Given the description of an element on the screen output the (x, y) to click on. 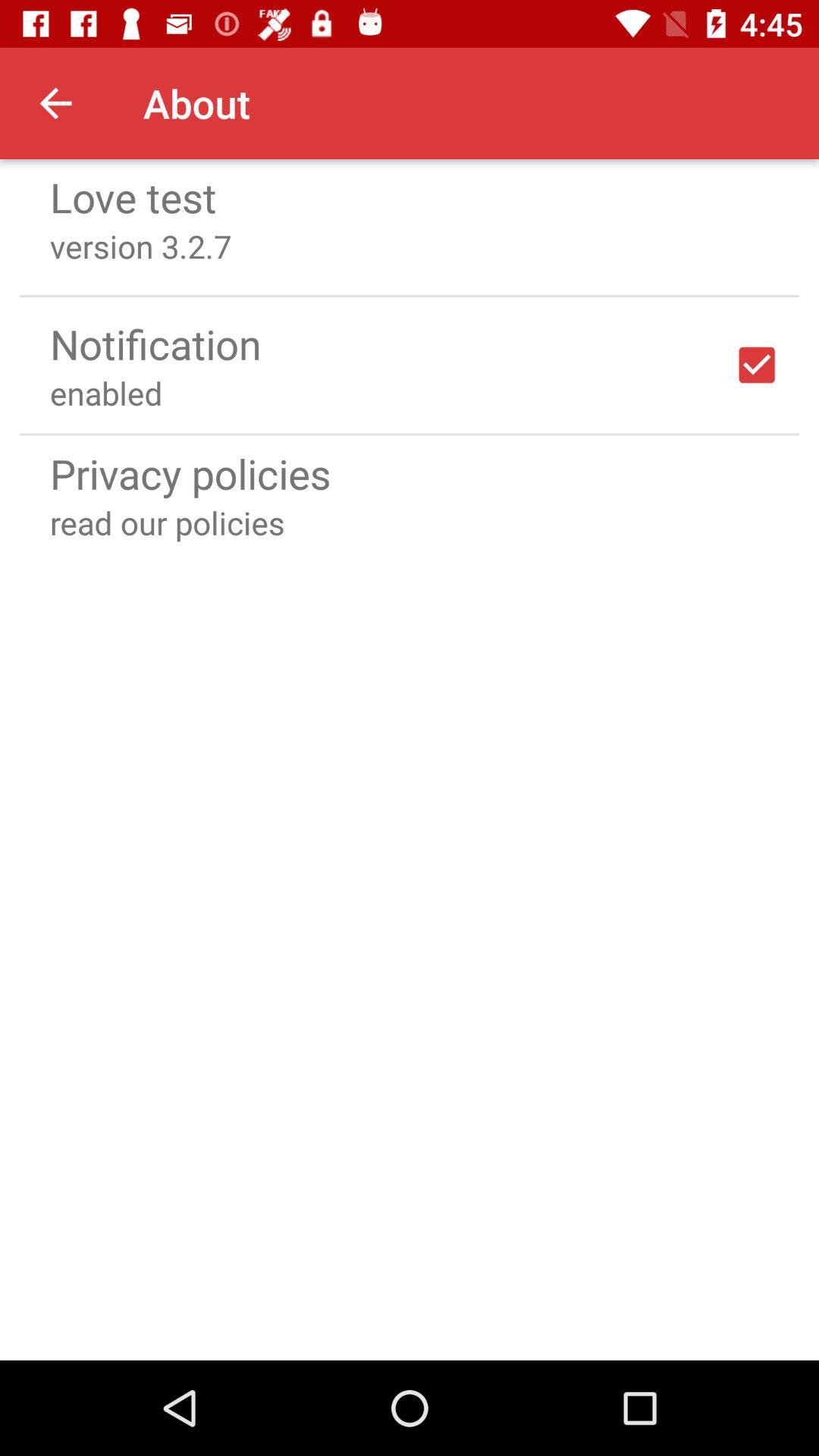
tap the icon at the top right corner (756, 364)
